Given the description of an element on the screen output the (x, y) to click on. 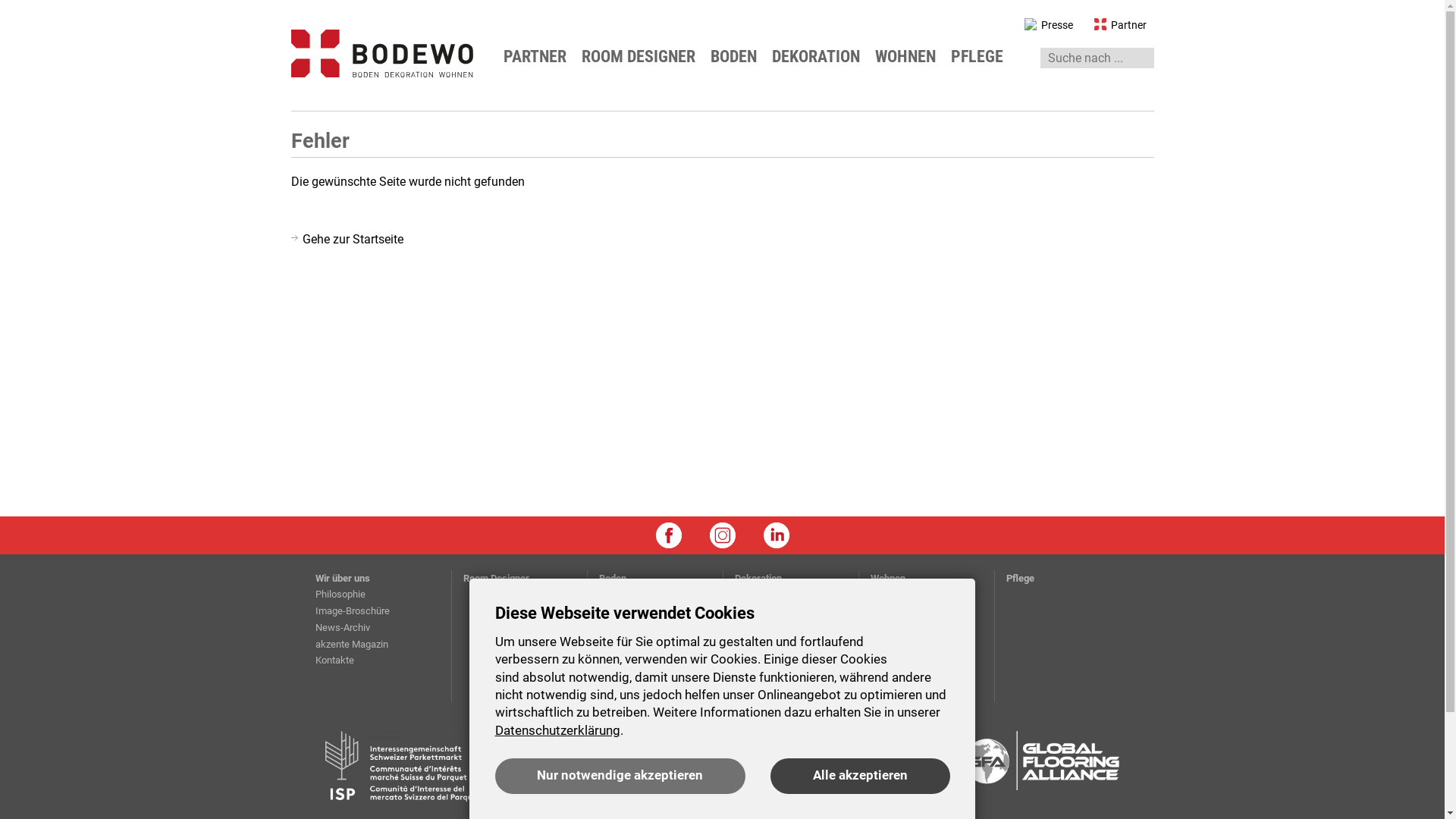
Facebook Element type: hover (667, 535)
http://globalflooringalliance.com/ Element type: hover (1041, 766)
Room Designer Element type: text (495, 577)
ROOM DESIGNER Element type: text (643, 56)
Pflege Element type: text (1019, 577)
Elastischer Belag Element type: text (636, 676)
Laminat Element type: text (616, 627)
PFLEGE Element type: text (982, 56)
Accessoires Element type: text (897, 610)
Boden Element type: text (612, 577)
Alumatten Element type: text (621, 693)
PARTNER Element type: text (540, 56)
Parkett Element type: text (614, 610)
DEKORATION Element type: text (821, 56)
http://www.bodenschweiz.ch/ Element type: hover (828, 766)
Linkedin Element type: hover (775, 535)
Komfort-Belag Element type: text (630, 593)
Partner Element type: text (1111, 24)
News-Archiv Element type: text (342, 627)
https://www.parkett-verband.ch Element type: hover (401, 766)
Suchen Element type: text (12, 8)
Polsterei Element type: text (889, 627)
http://www.flooright.ch Element type: hover (615, 766)
Bettwaren Element type: text (756, 593)
Kontakte Element type: text (334, 659)
Nur notwendige akzeptieren Element type: text (619, 775)
BODEN Element type: text (738, 56)
Instagram Element type: hover (722, 535)
Dekoration Element type: text (757, 577)
Philosophie Element type: text (340, 593)
Wohnen Element type: text (887, 577)
WOHNEN Element type: text (911, 56)
Alle akzeptieren Element type: text (859, 775)
Teppich Element type: text (616, 643)
Gehe zur Startseite Element type: text (347, 239)
Design-Belag Element type: text (627, 659)
akzente Magazin Element type: text (351, 643)
Presse Element type: text (1039, 24)
